Given the description of an element on the screen output the (x, y) to click on. 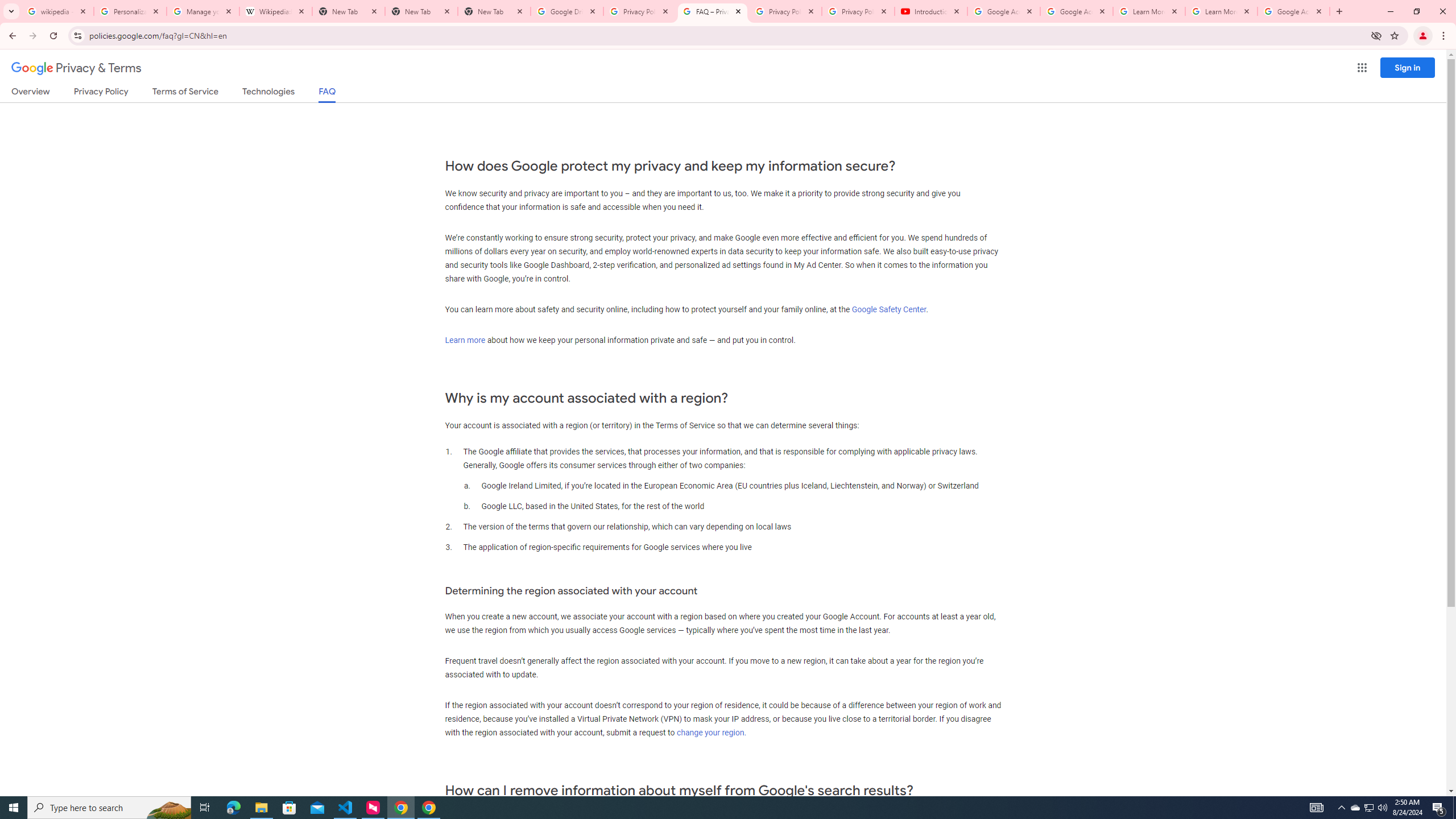
New Tab (421, 11)
Google Safety Center (888, 309)
Wikipedia:Edit requests - Wikipedia (275, 11)
Personalization & Google Search results - Google Search Help (129, 11)
Google Account (1293, 11)
